Given the description of an element on the screen output the (x, y) to click on. 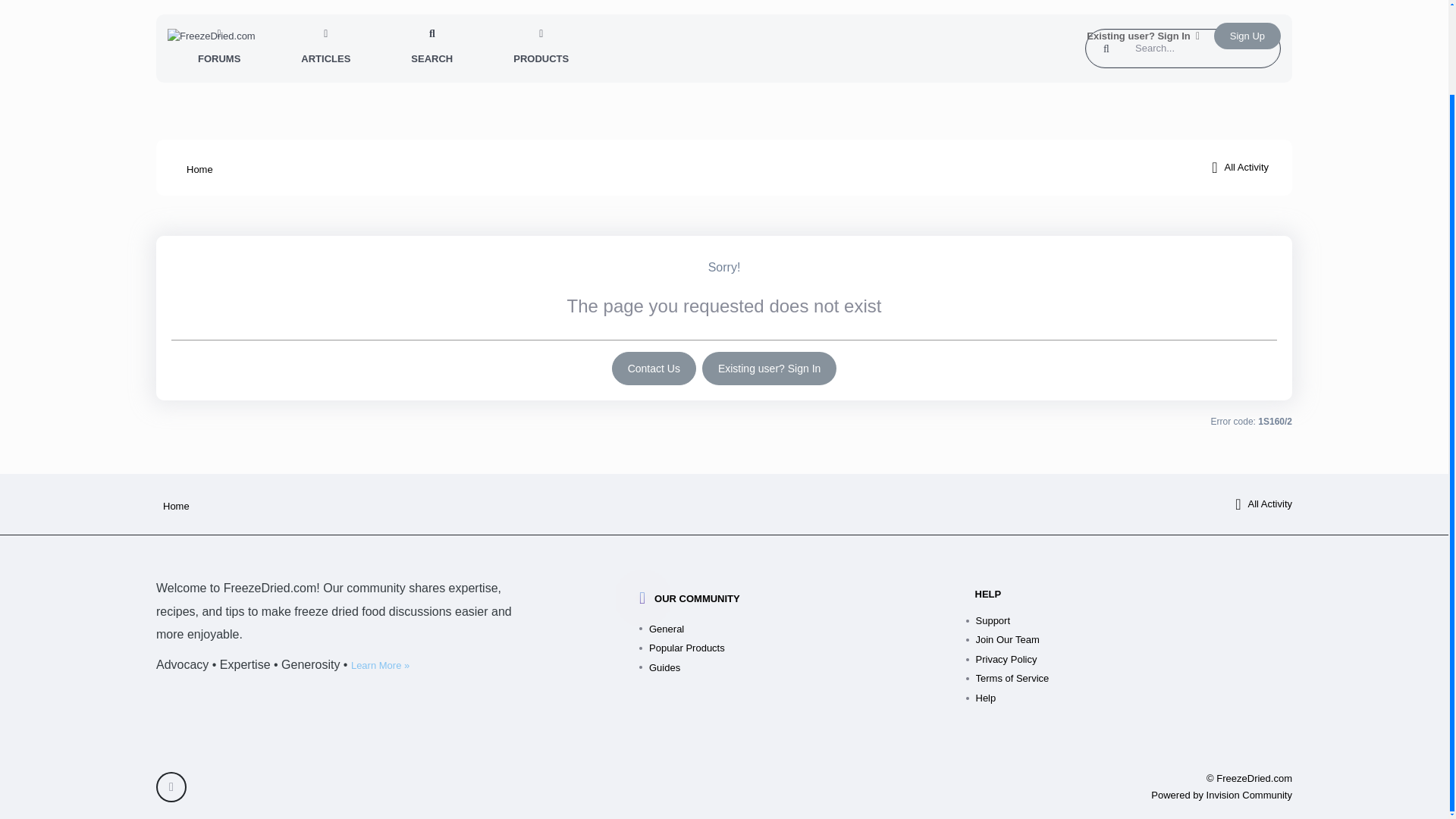
Home (195, 168)
Home (195, 168)
Privacy Policy (1133, 659)
Existing user? Sign In (768, 368)
Powered by Invision Community (1221, 794)
Join Our Team (1133, 639)
Terms of Service (1133, 678)
All Activity (1239, 167)
Support (1133, 620)
Home (172, 505)
Invision Community (1221, 794)
Guides (807, 668)
Popular Products (807, 648)
All Activity (1263, 504)
Existing user? Sign In (768, 368)
